Given the description of an element on the screen output the (x, y) to click on. 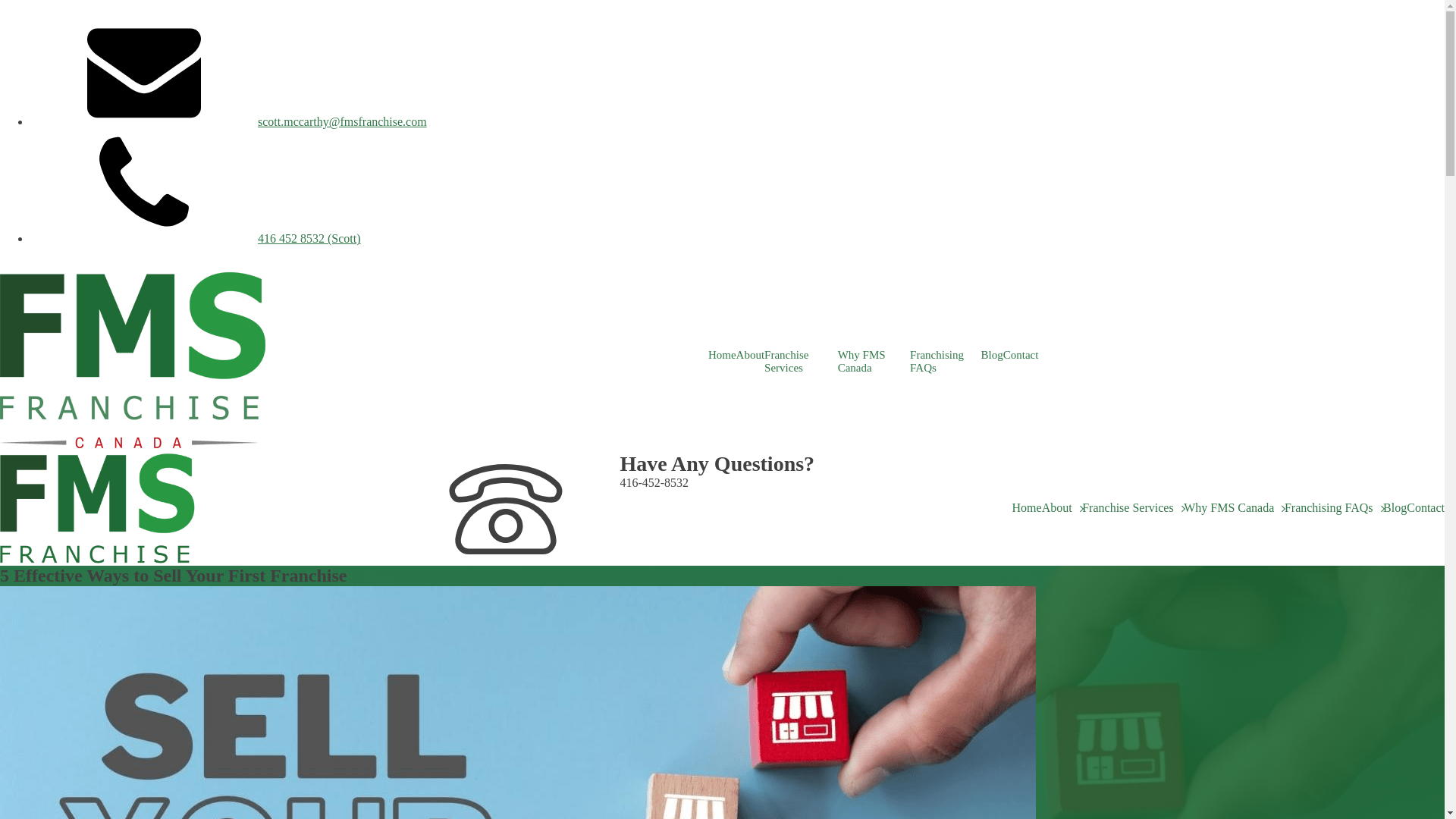
About (750, 354)
Franchise Services (801, 361)
Why FMS Canada (874, 361)
Franchising FAQs (944, 361)
Contact (1021, 354)
Home (721, 354)
Free Franchise Consultation (68, 264)
Home (1026, 508)
Blog (992, 354)
